Given the description of an element on the screen output the (x, y) to click on. 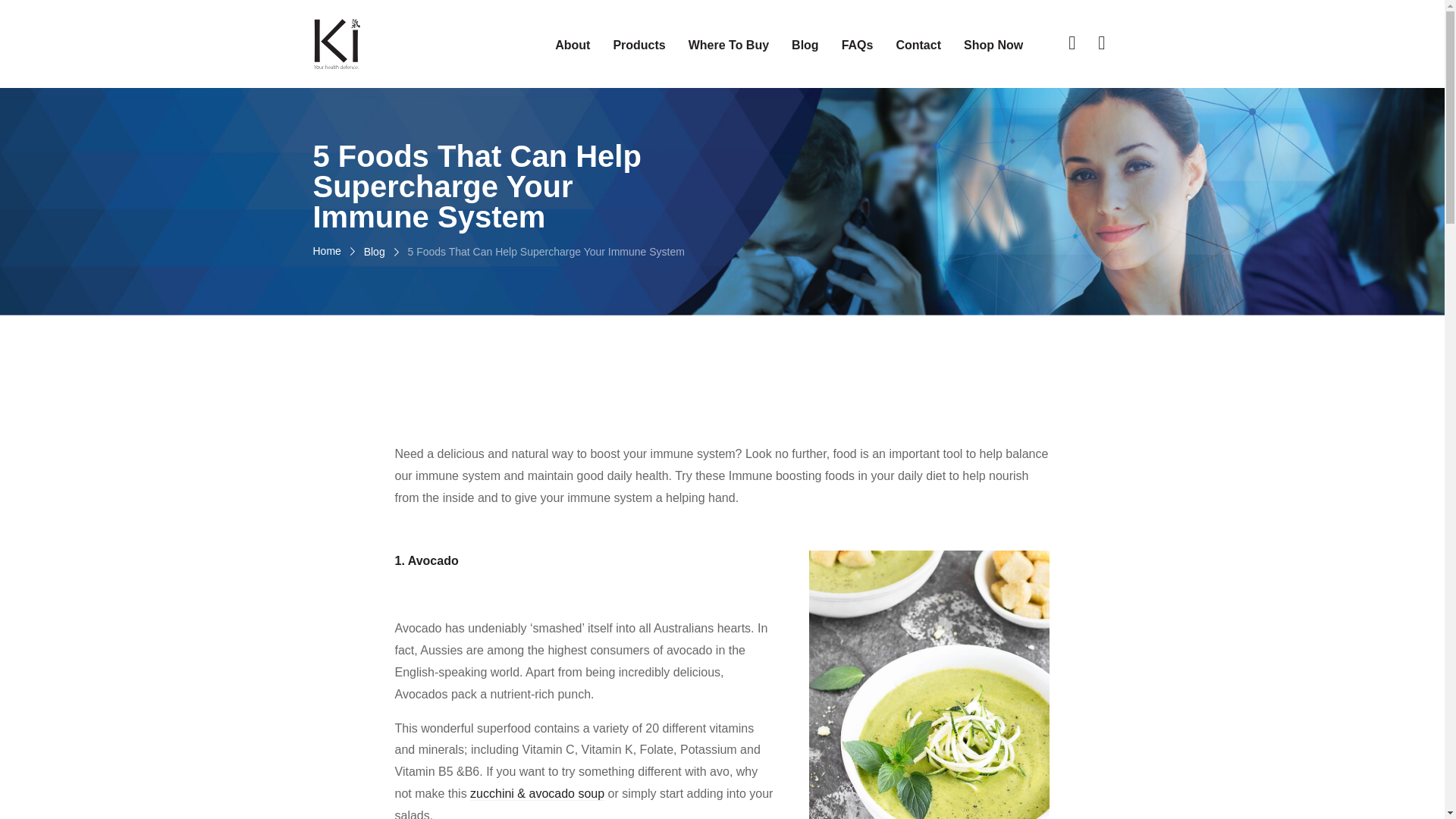
Blog Element type: text (374, 252)
FAQs Element type: text (857, 44)
Where To Buy Element type: text (728, 44)
Blog Element type: text (805, 44)
zucchini & avocado soup Element type: text (537, 793)
Products Element type: text (638, 44)
About Element type: text (572, 44)
Home Element type: text (326, 251)
Shop Now Element type: text (992, 44)
Contact Element type: text (918, 44)
